Given the description of an element on the screen output the (x, y) to click on. 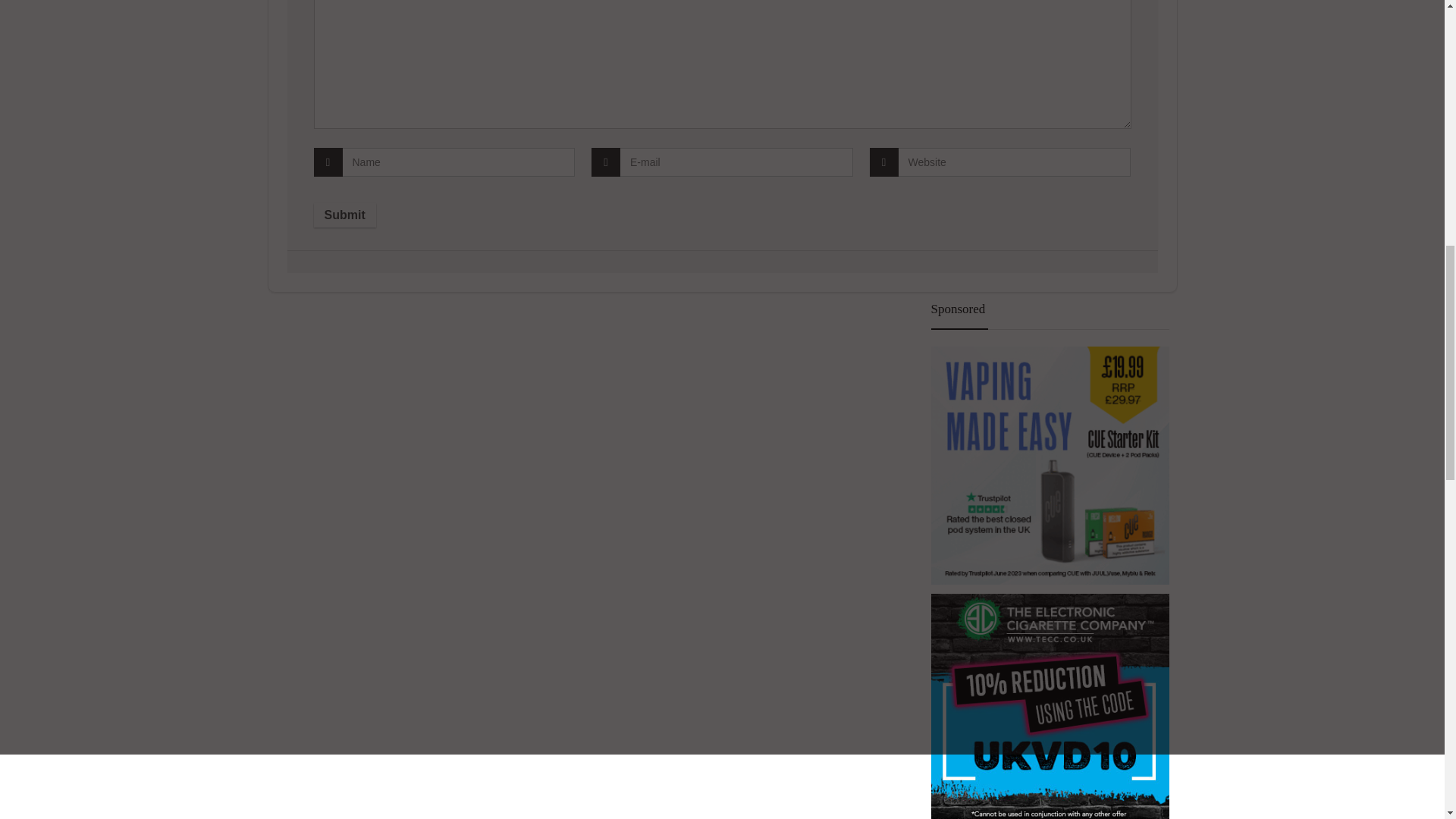
Submit (344, 215)
Submit (344, 215)
